Given the description of an element on the screen output the (x, y) to click on. 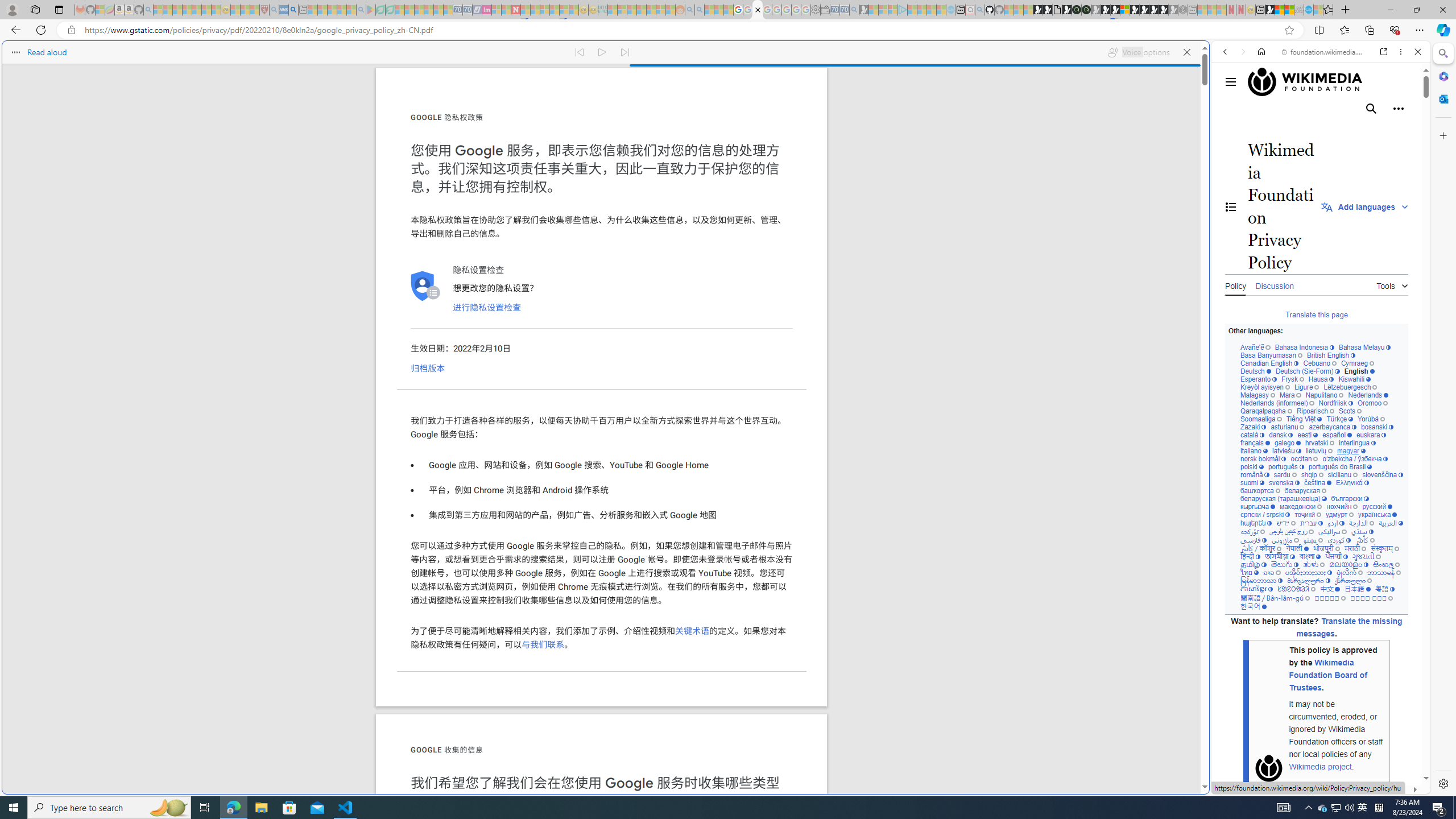
Scots (1350, 411)
Continue to read aloud (Ctrl+Shift+U) (602, 52)
Bahasa Indonesia (1303, 347)
Wikimedia Foundation mark (1269, 768)
